Given the description of an element on the screen output the (x, y) to click on. 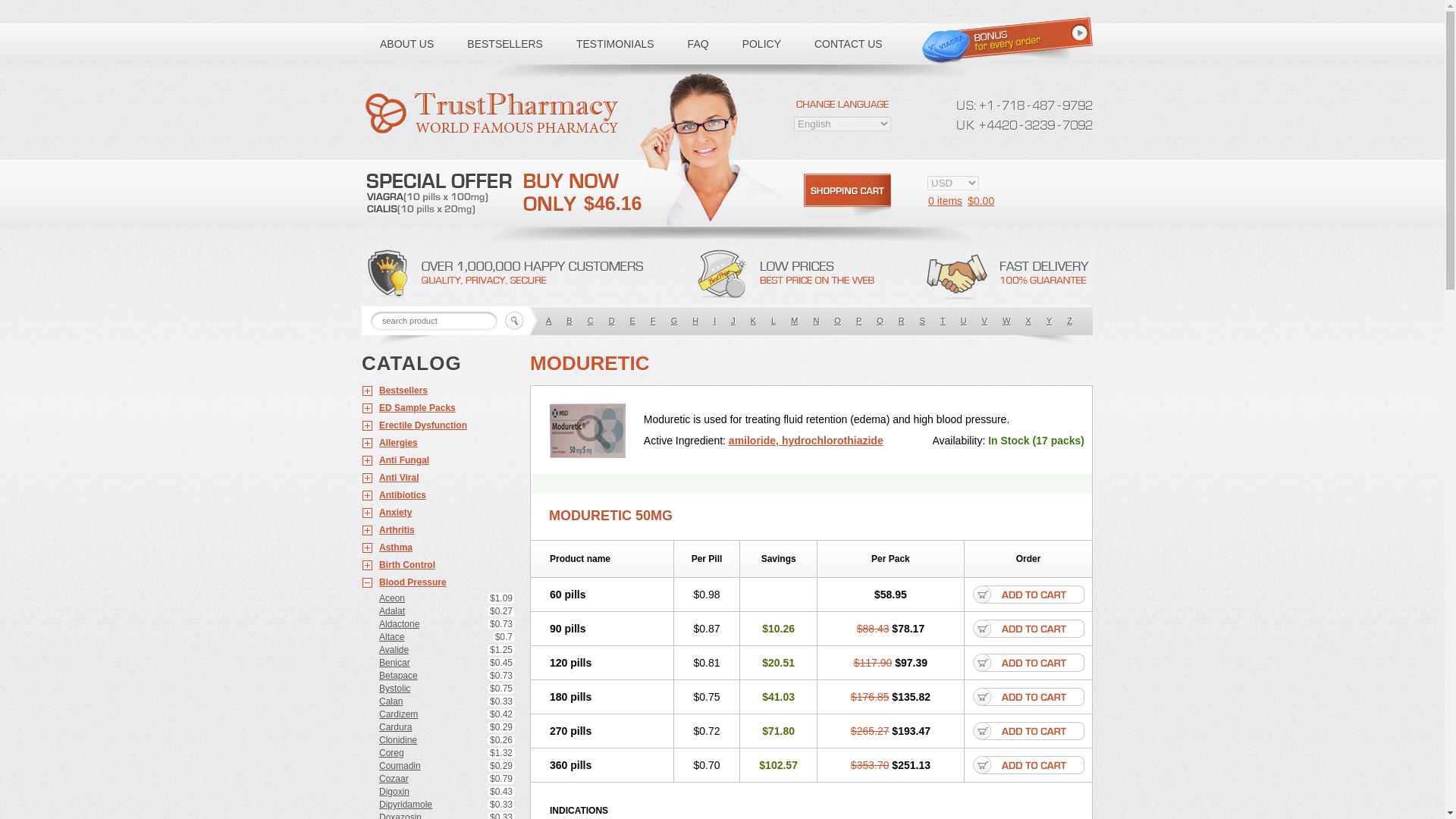
ABOUT US (405, 43)
Bestsellers (438, 390)
CONTACT US (848, 43)
FAQ (698, 43)
BESTSELLERS (504, 43)
Moduretic (593, 429)
POLICY (761, 43)
TESTIMONIALS (615, 43)
